Given the description of an element on the screen output the (x, y) to click on. 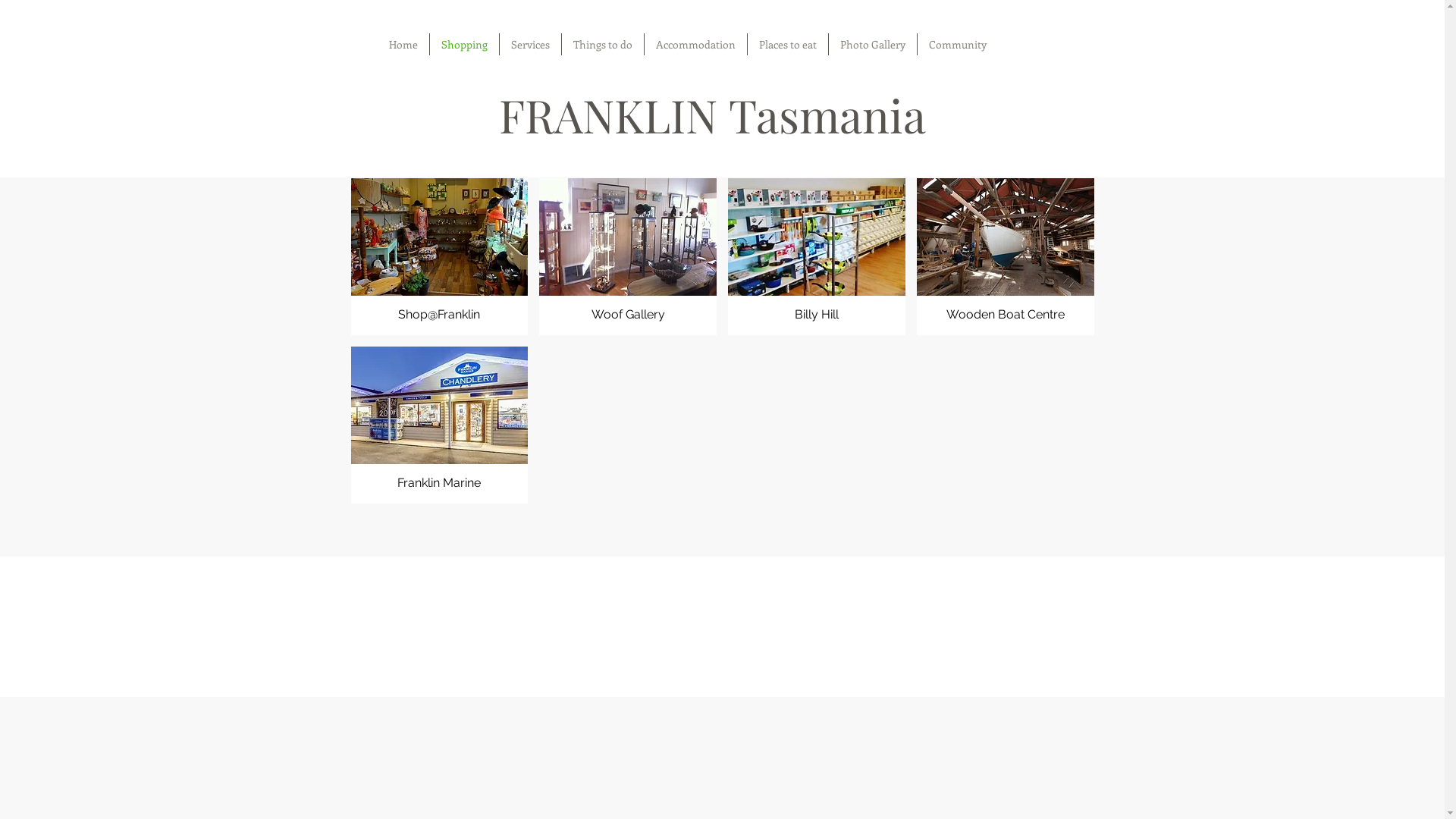
Photo Gallery Element type: text (872, 44)
Places to eat Element type: text (787, 44)
Shopping Element type: text (463, 44)
Franklin Marine Element type: text (438, 424)
Services Element type: text (529, 44)
Things to do Element type: text (602, 44)
Billy Hill
organic and all natural health products Element type: text (816, 256)
Home Element type: text (403, 44)
Community Element type: text (957, 44)
Accommodation Element type: text (695, 44)
